Given the description of an element on the screen output the (x, y) to click on. 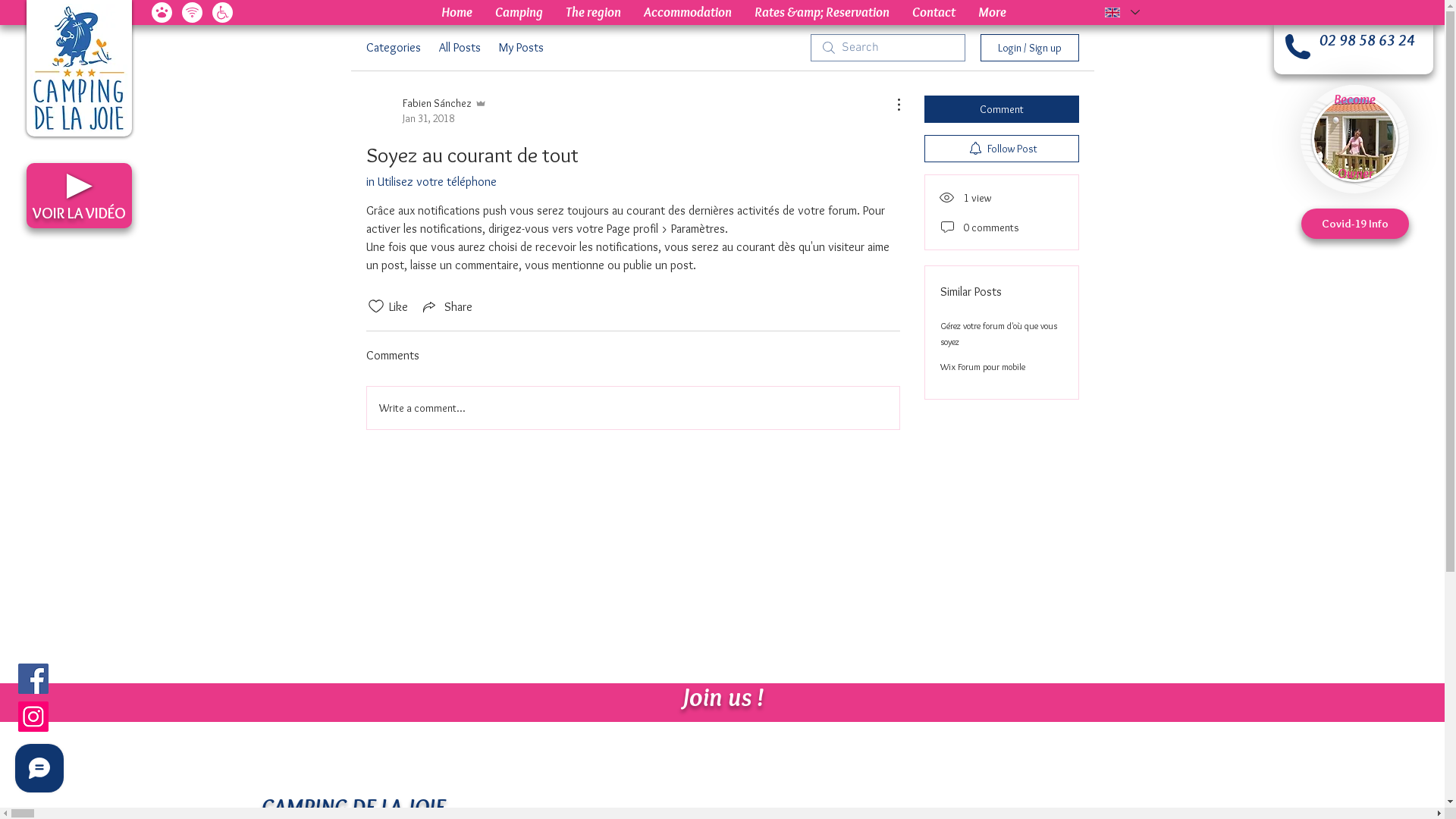
Follow Post Element type: text (1000, 148)
Share Element type: text (446, 306)
Rates &amp; Reservation Element type: text (821, 12)
Login / Sign up Element type: text (1028, 47)
Categories Element type: text (392, 47)
My Posts Element type: text (520, 47)
Comment Element type: text (1000, 108)
Wix Chat Element type: hover (35, 771)
Contact Element type: text (933, 12)
The region Element type: text (592, 12)
Covid-19 Info Element type: text (1354, 223)
Wix Forum pour mobile Element type: text (982, 366)
Accommodation Element type: text (687, 12)
Write a comment... Element type: text (633, 407)
All Posts Element type: text (459, 47)
Camping Element type: text (518, 12)
Home Element type: text (456, 12)
